Given the description of an element on the screen output the (x, y) to click on. 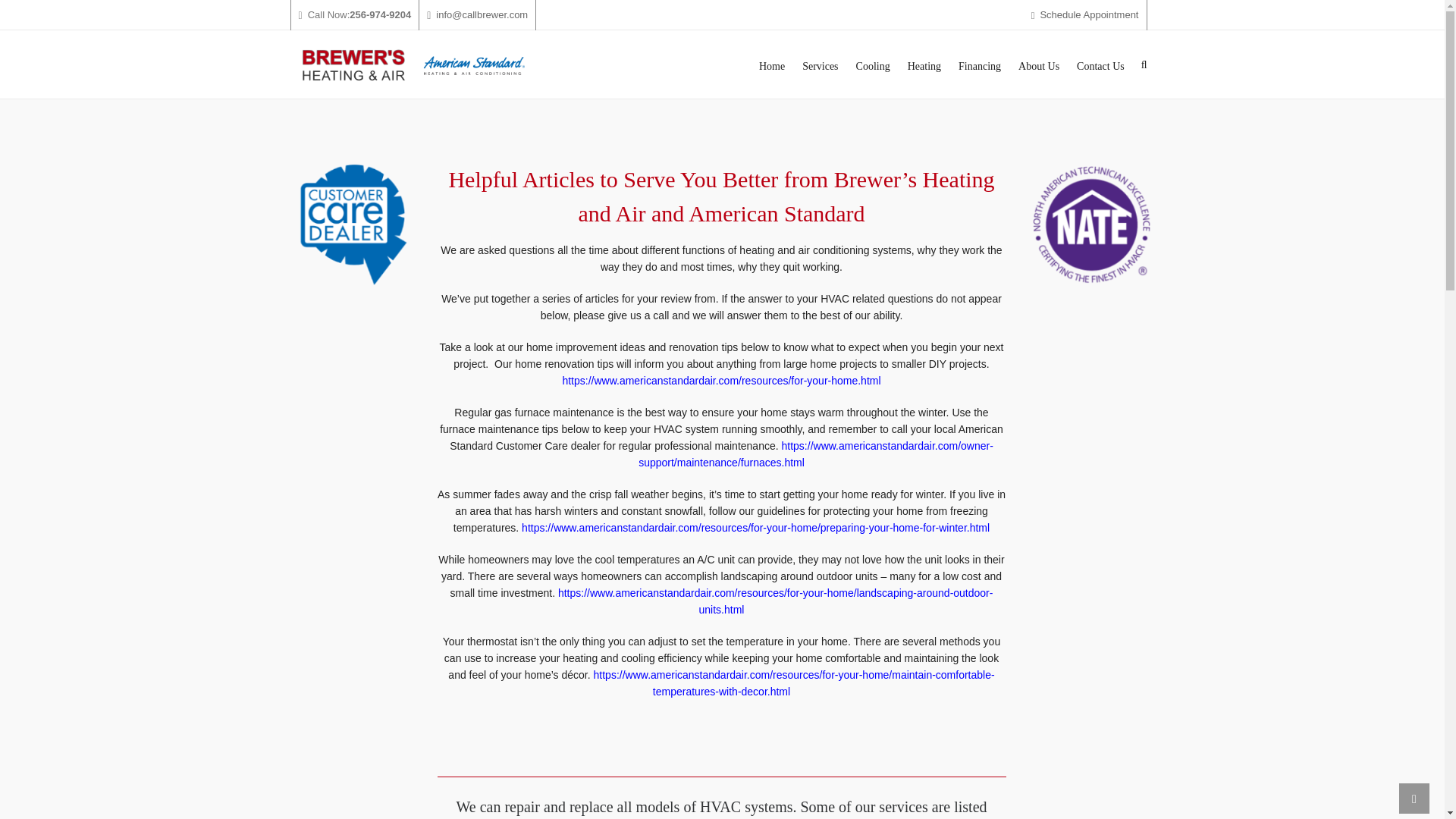
NATE Certified (1090, 224)
Schedule Appointment (1084, 15)
Contact Us (1100, 64)
